Given the description of an element on the screen output the (x, y) to click on. 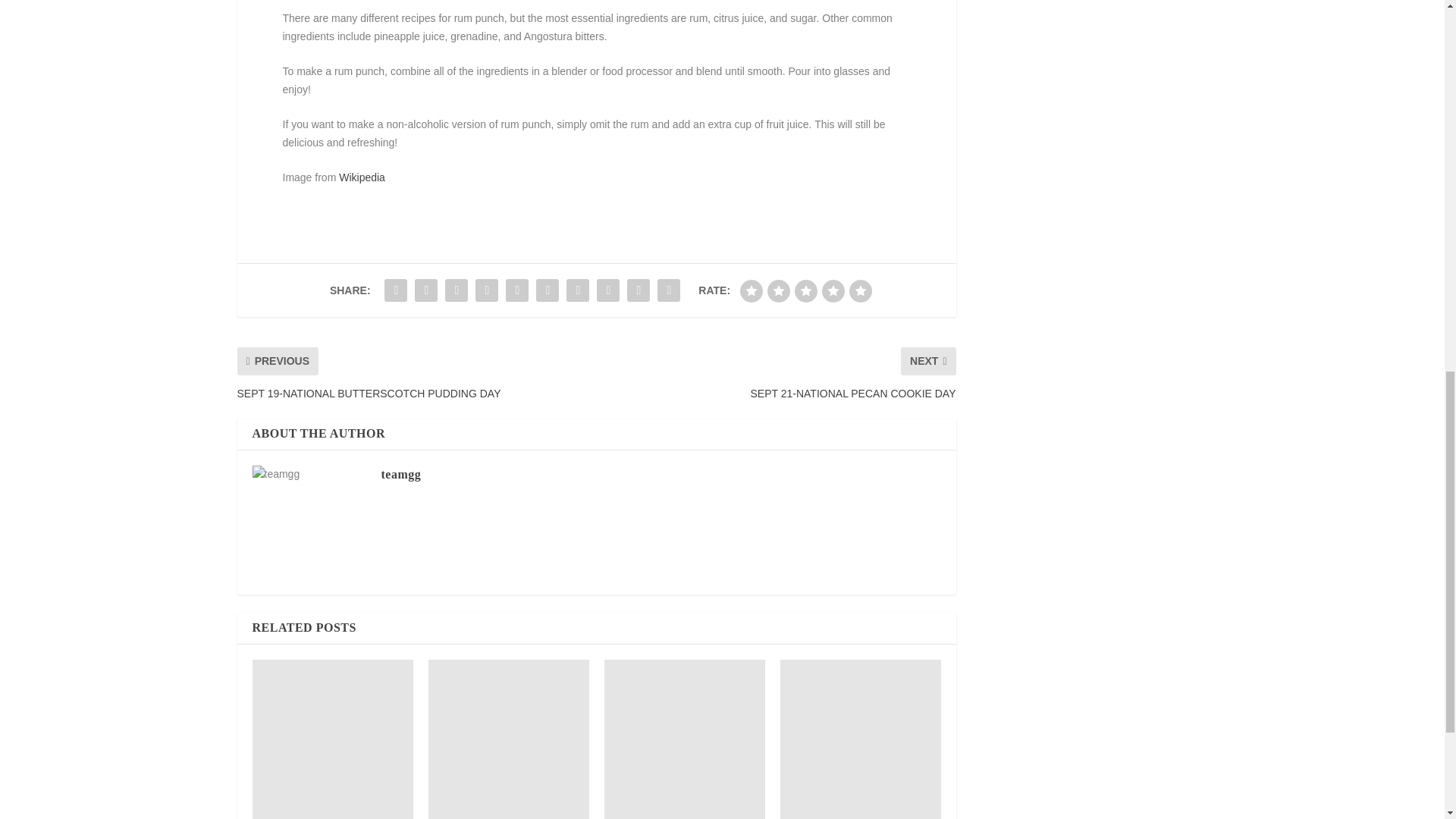
good (833, 291)
Share "SEPT 20-NATIONAL RUM PUNCH DAY" via Pinterest (517, 290)
Share "SEPT 20-NATIONAL RUM PUNCH DAY" via Facebook (395, 290)
Share "SEPT 20-NATIONAL RUM PUNCH DAY" via Print (668, 290)
Wikipedia (362, 177)
Share "SEPT 20-NATIONAL RUM PUNCH DAY" via Stumbleupon (607, 290)
Share "SEPT 20-NATIONAL RUM PUNCH DAY" via Buffer (577, 290)
bad (750, 291)
poor (778, 291)
Share "SEPT 20-NATIONAL RUM PUNCH DAY" via Tumblr (486, 290)
Share "SEPT 20-NATIONAL RUM PUNCH DAY" via Twitter (425, 290)
Share "SEPT 20-NATIONAL RUM PUNCH DAY" via LinkedIn (547, 290)
regular (805, 291)
teamgg (400, 473)
Share "SEPT 20-NATIONAL RUM PUNCH DAY" via Email (638, 290)
